Given the description of an element on the screen output the (x, y) to click on. 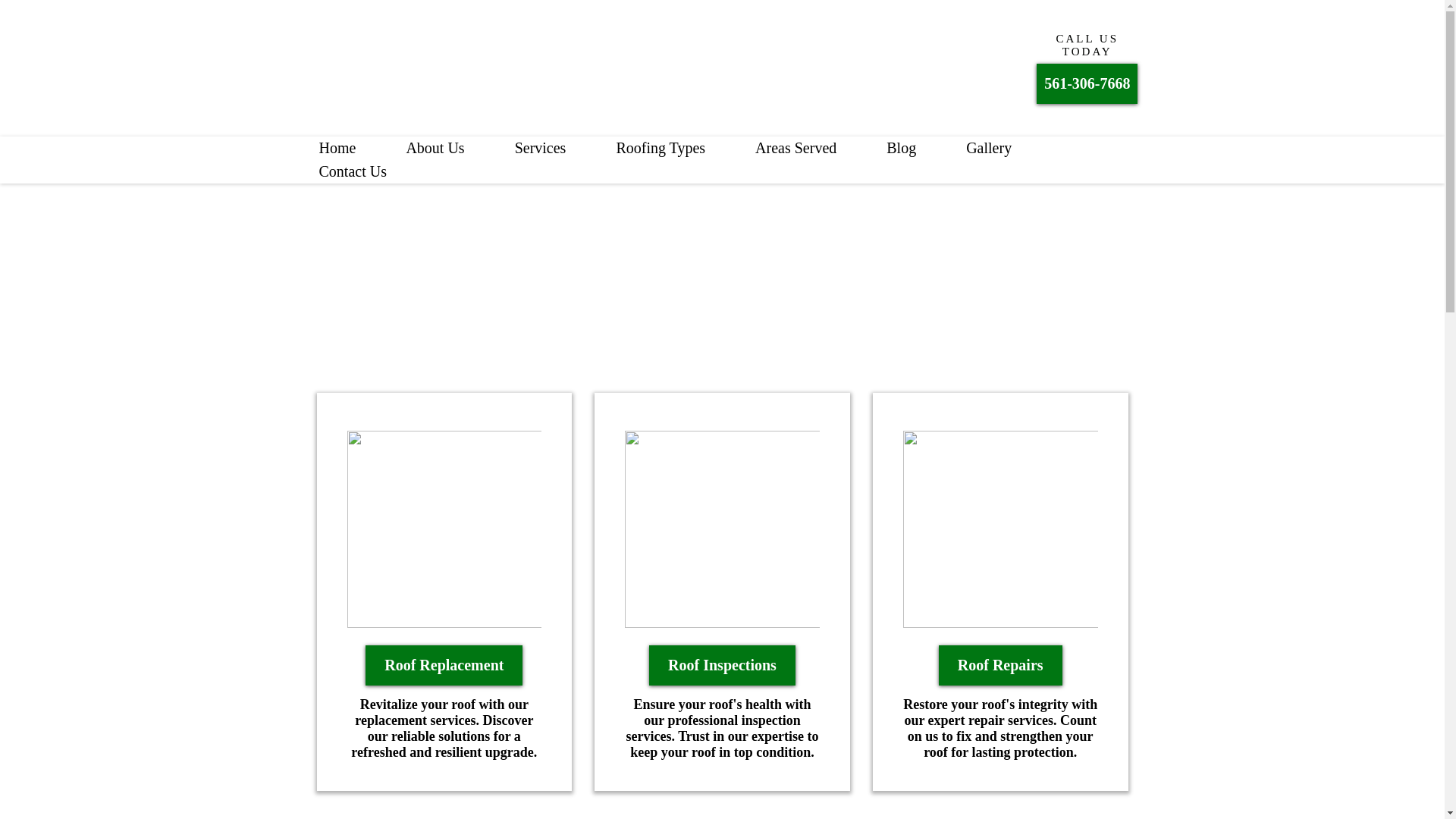
Roof Repairs (1000, 665)
Roofing Types (660, 147)
About Us (434, 147)
561-306-7668 (1086, 83)
Gallery (988, 147)
Roof Replacement (443, 665)
Areas Served (795, 147)
Roof Inspections (721, 665)
Contact Us (353, 171)
Home (337, 147)
Blog (900, 147)
Services (540, 147)
